Given the description of an element on the screen output the (x, y) to click on. 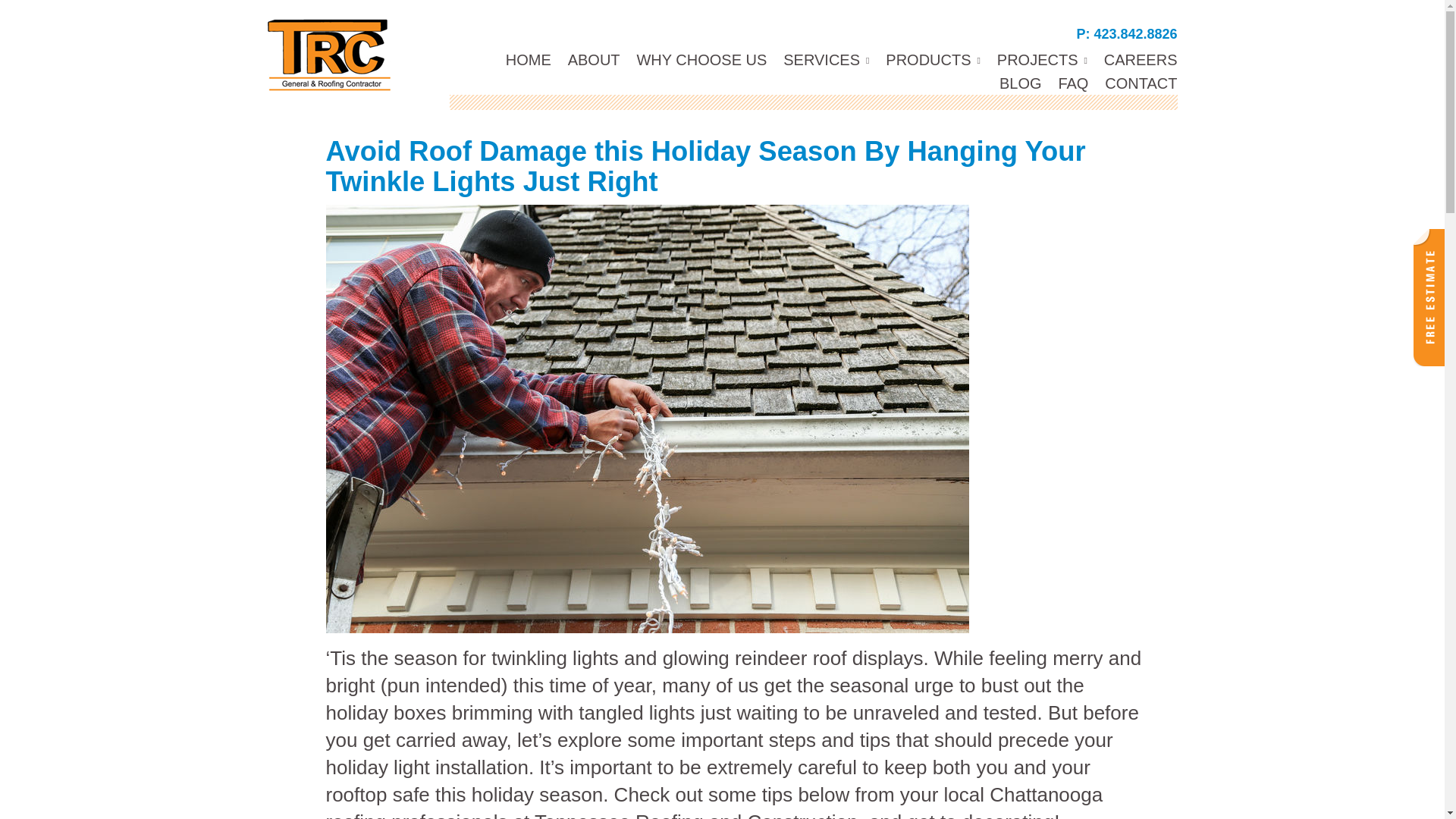
ABOUT (587, 59)
Why Choose Us (695, 59)
CAREERS (1133, 59)
SERVICES (819, 60)
HOME (521, 59)
Contact Us (1133, 83)
About Us (587, 59)
BLOG (1013, 83)
WHY CHOOSE US (695, 59)
PROJECTS (1035, 60)
Employment (1133, 59)
P: 423.842.8826 (1125, 33)
CONTACT (1133, 83)
